Given the description of an element on the screen output the (x, y) to click on. 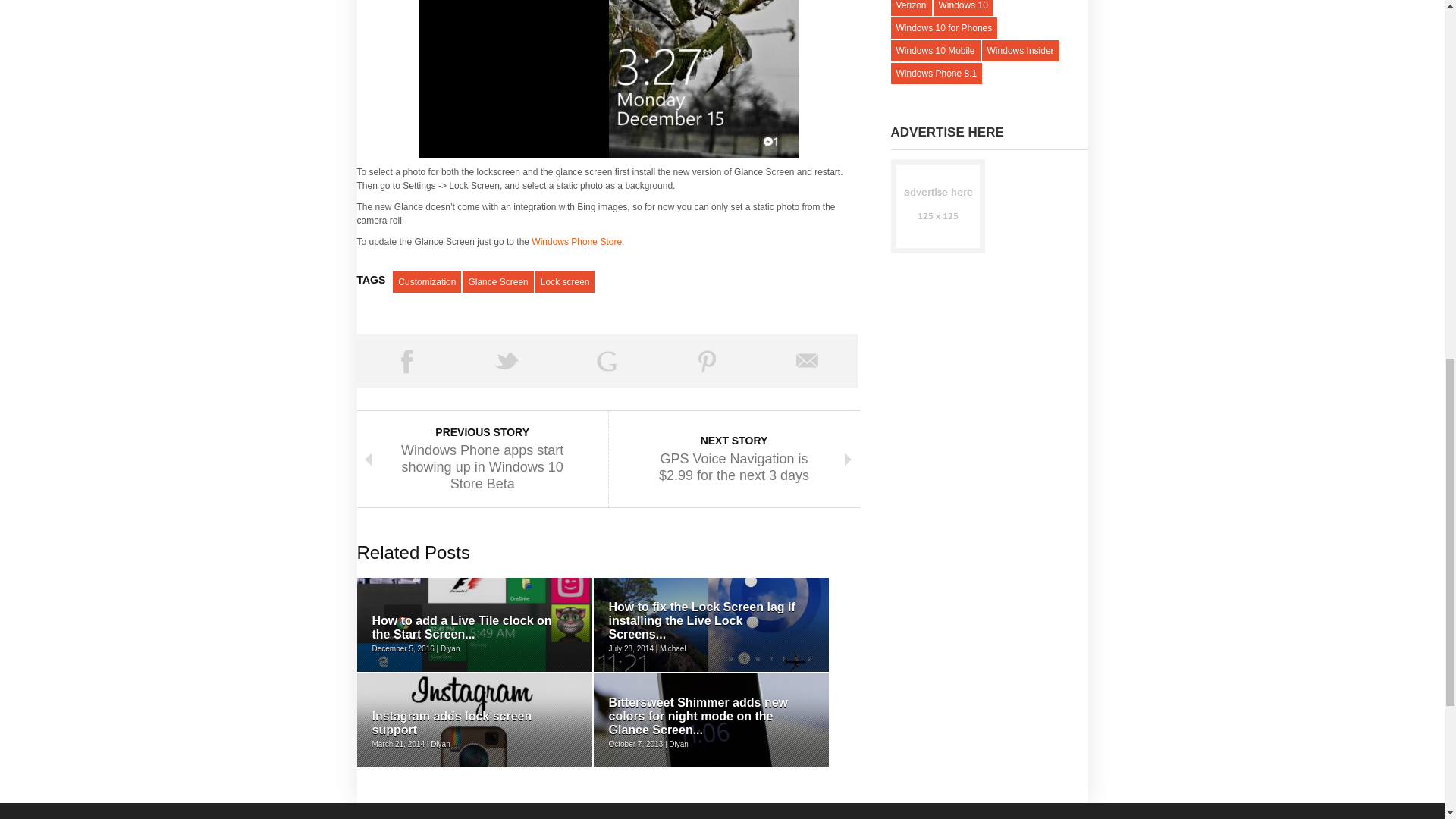
Email This (807, 360)
Glance Screen (497, 281)
Customization (427, 281)
Lock screen (565, 281)
Tweet This (507, 360)
Pin This (707, 360)
Share on Google Plus (607, 360)
Windows Phone Store (576, 241)
Share on Facebook (406, 360)
